Given the description of an element on the screen output the (x, y) to click on. 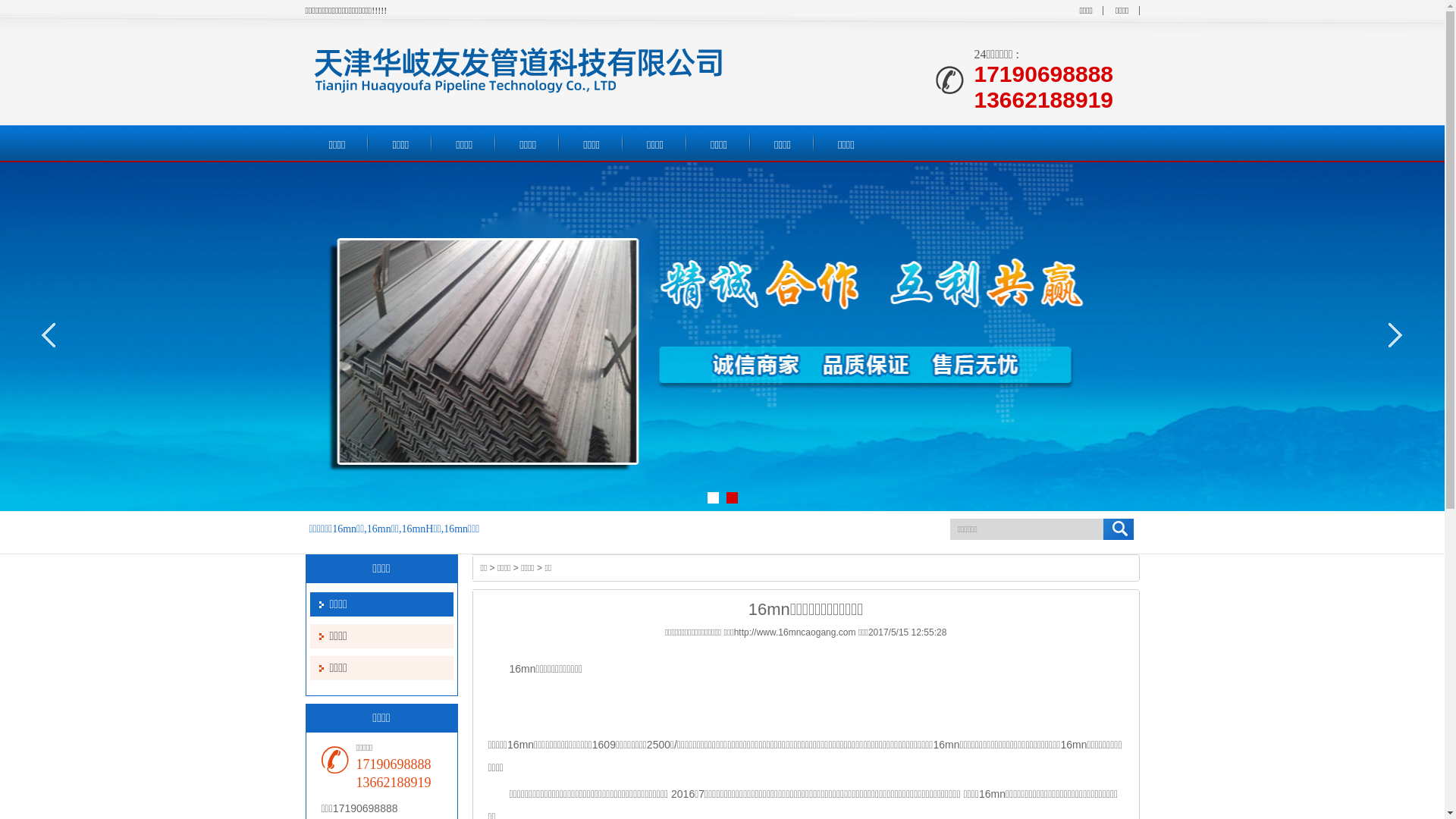
2 Element type: text (731, 497)
1 Element type: text (712, 497)
